Given the description of an element on the screen output the (x, y) to click on. 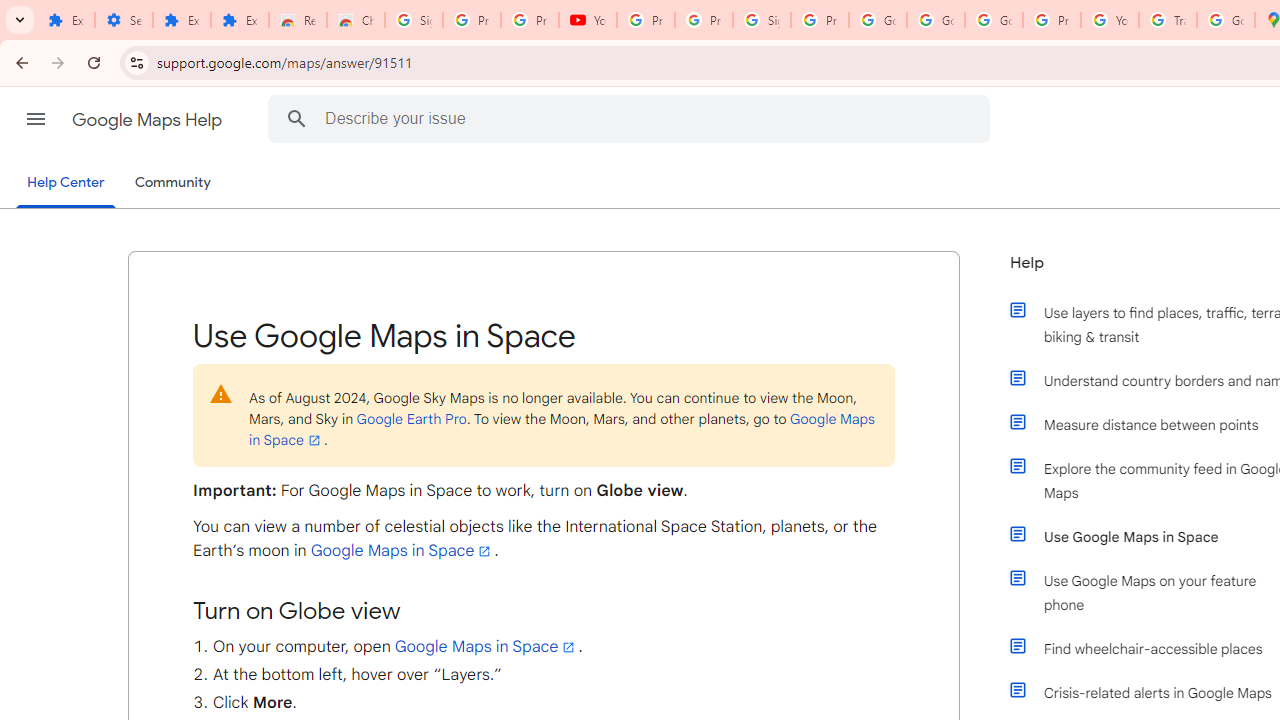
Google Maps in Space (486, 646)
Extensions (239, 20)
Search Help Center (297, 118)
Reviews: Helix Fruit Jump Arcade Game (297, 20)
Google Earth Pro (411, 418)
YouTube (1110, 20)
Extensions (181, 20)
Google Account (936, 20)
Describe your issue (632, 118)
